Given the description of an element on the screen output the (x, y) to click on. 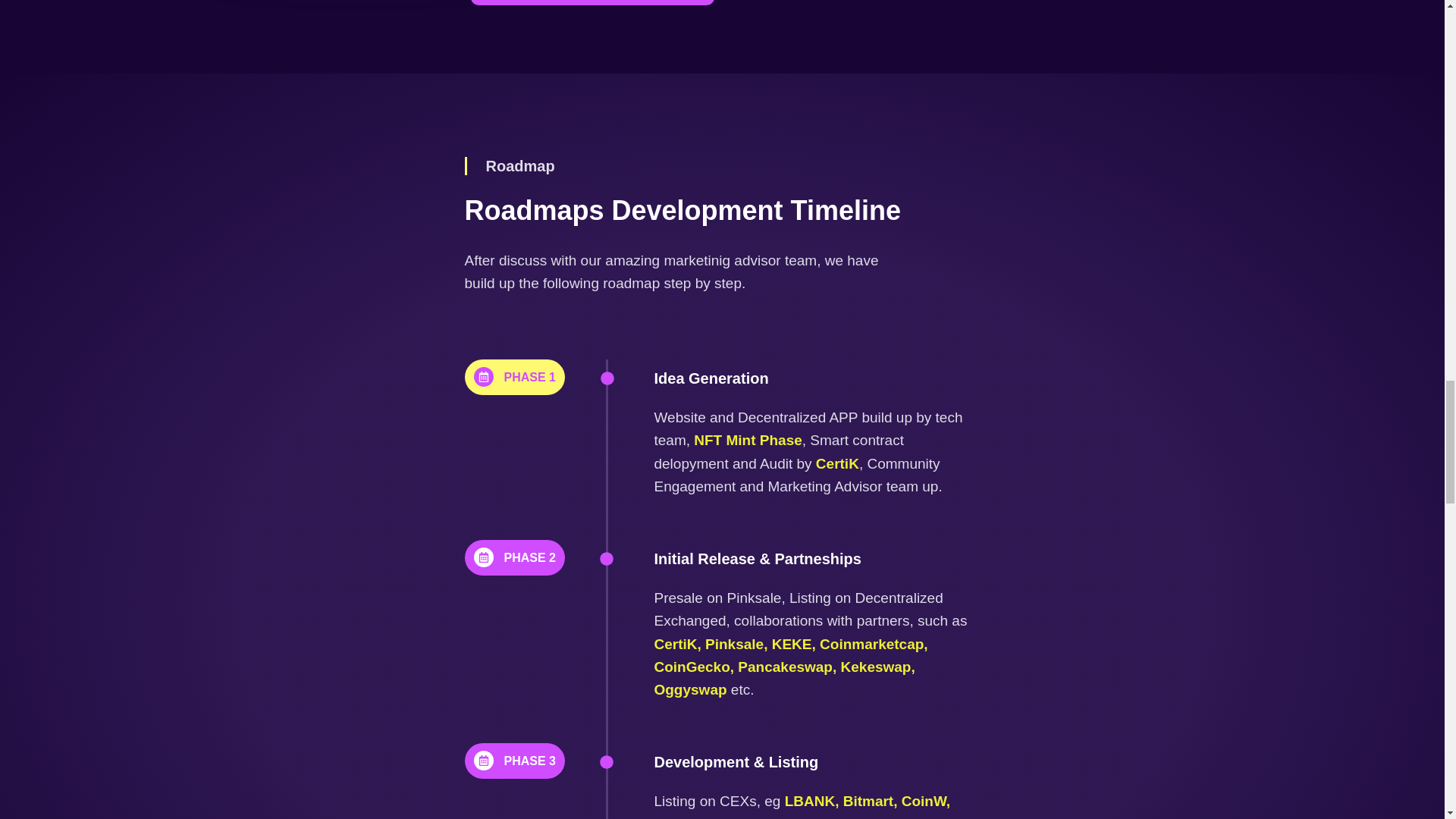
LBANK, Bitmart, CoinW, Bitget, MEXC, Gate (801, 806)
CertiK (835, 463)
NFT Mint Phase (748, 439)
